Given the description of an element on the screen output the (x, y) to click on. 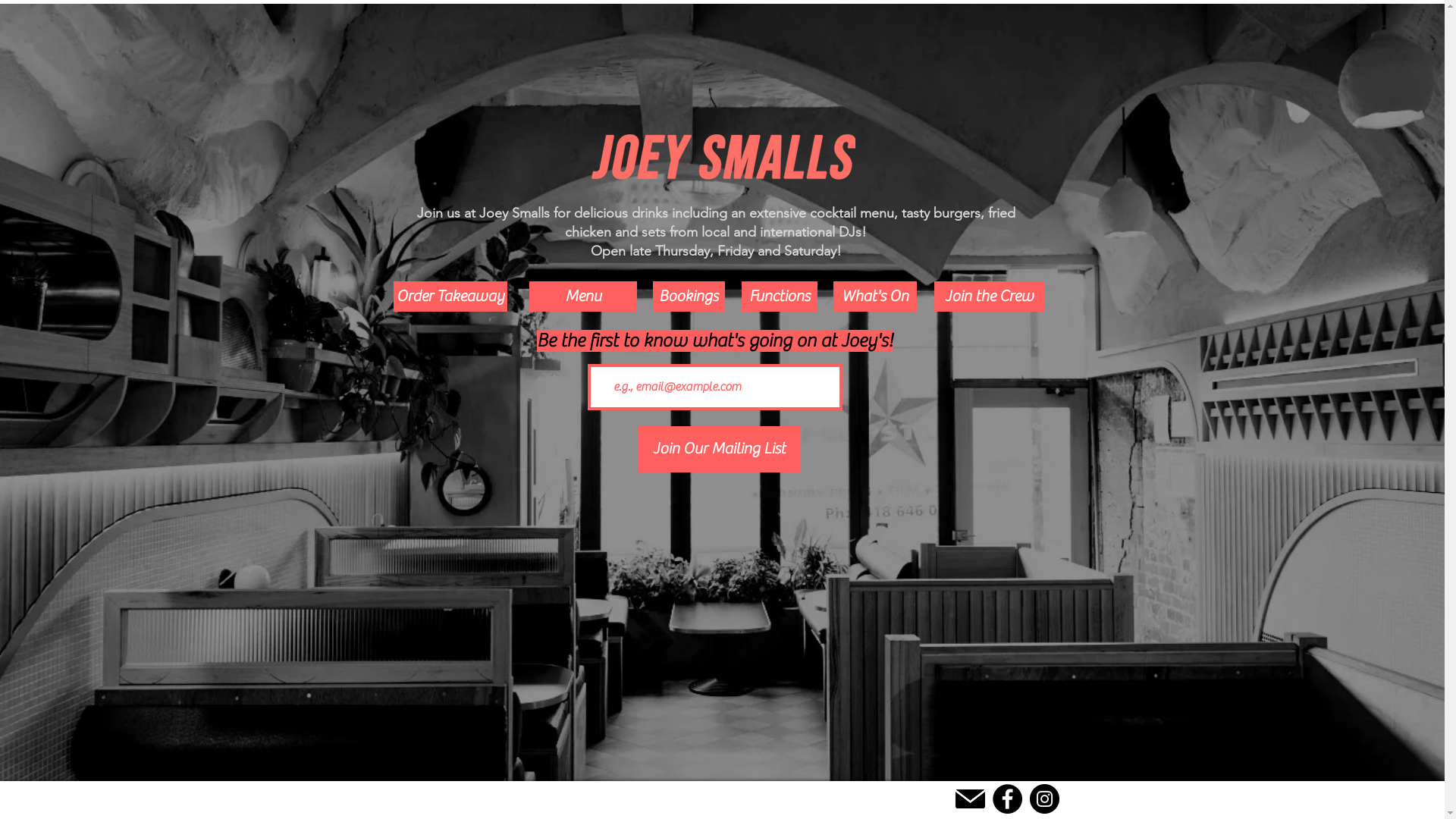
What's On Element type: text (874, 296)
Join Our Mailing List Element type: text (718, 449)
Order Takeaway Element type: text (449, 296)
Functions Element type: text (779, 296)
Menu Element type: text (583, 296)
Bookings Element type: text (688, 296)
Join the Crew Element type: text (989, 296)
